Given the description of an element on the screen output the (x, y) to click on. 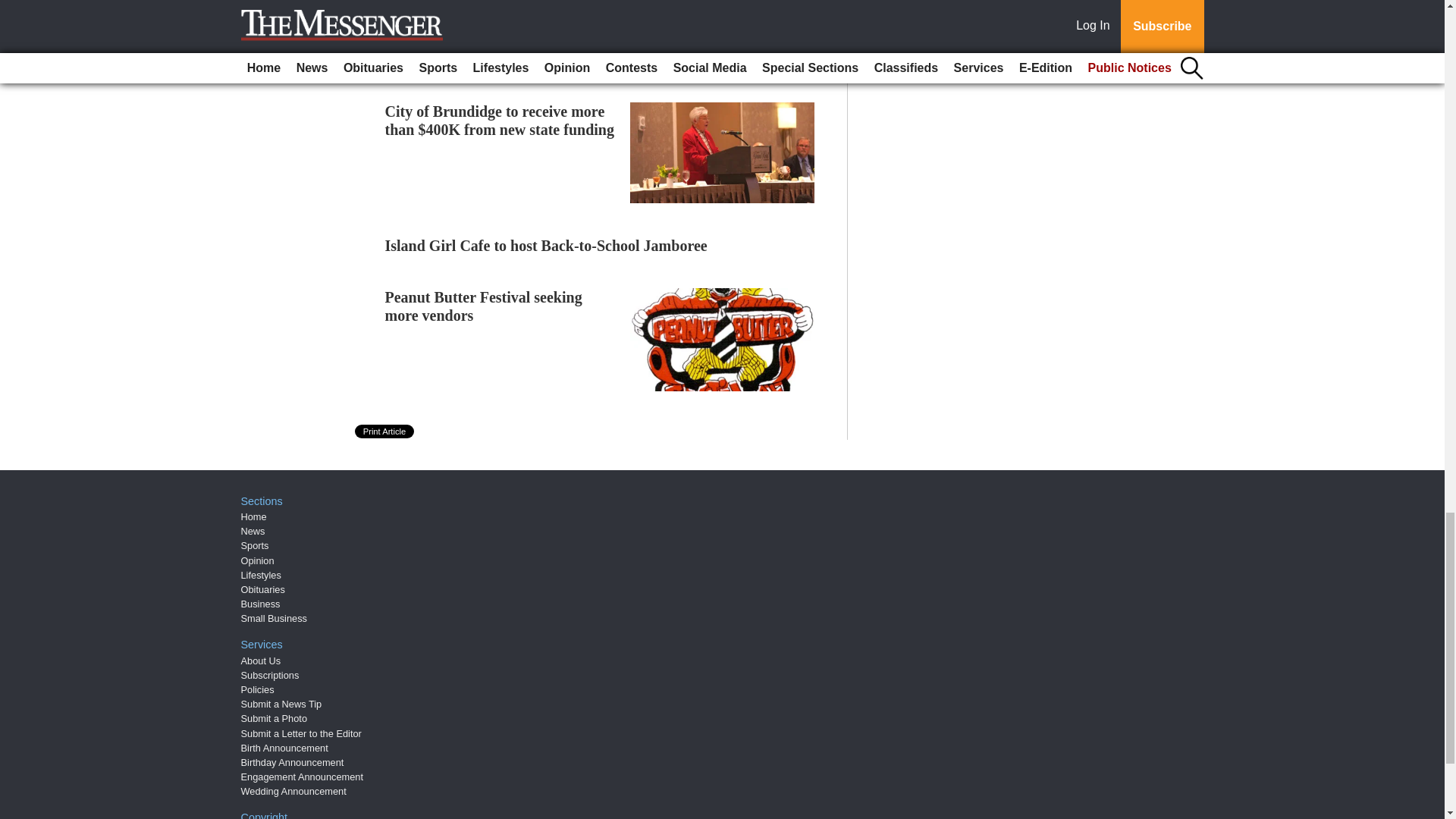
Peanut Butter Festival seeking more vendors (483, 306)
Island Girl Cafe to host Back-to-School Jamboree (546, 245)
